Given the description of an element on the screen output the (x, y) to click on. 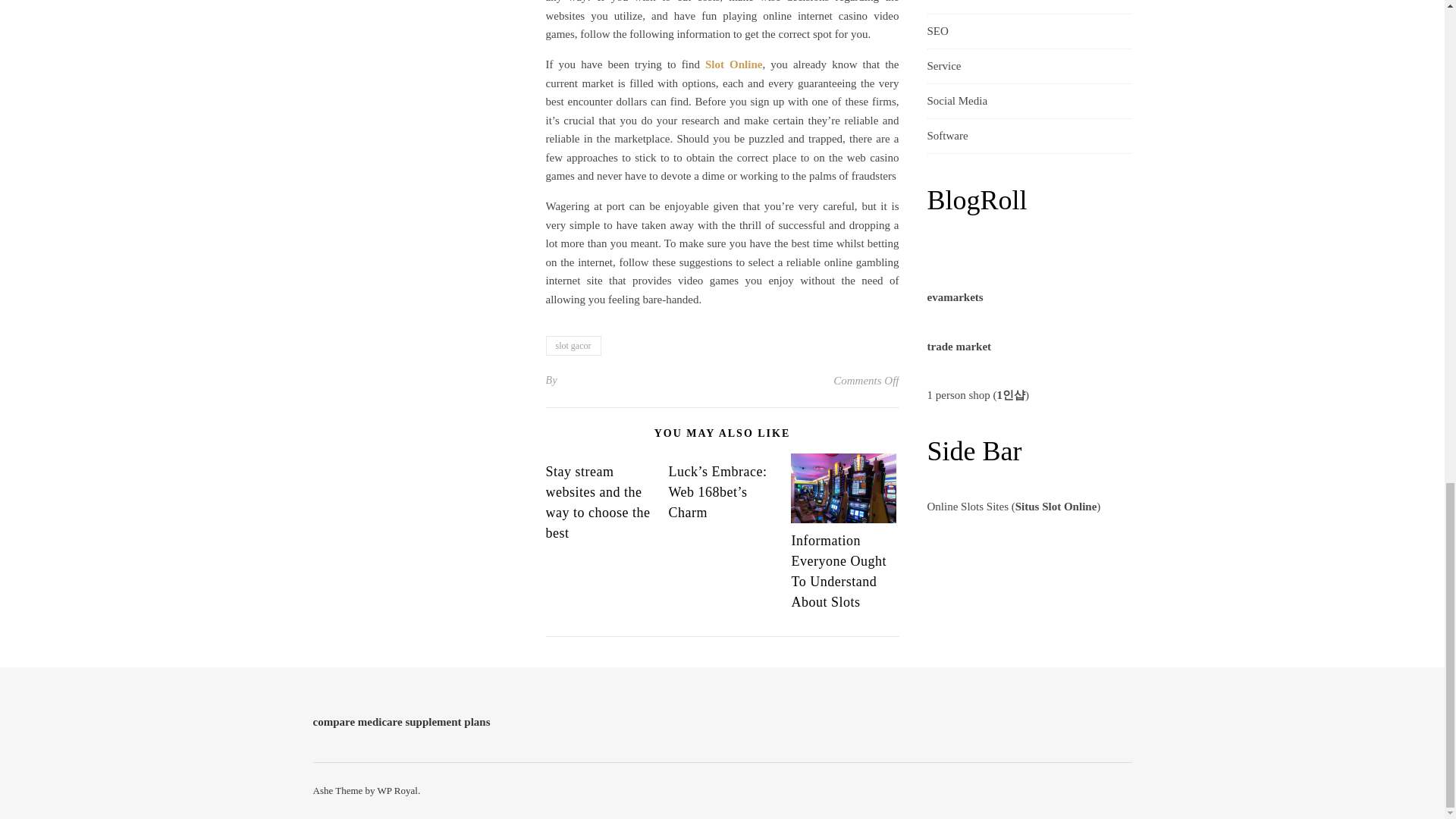
Information Everyone Ought To Understand About Slots (837, 571)
evamarkets (954, 297)
Slot Online (732, 64)
Real-Estate (952, 6)
Social Media (956, 100)
Software (947, 135)
trade market (958, 346)
Stay stream websites and the way to choose the best (598, 502)
Service (943, 66)
slot gacor (573, 345)
